Given the description of an element on the screen output the (x, y) to click on. 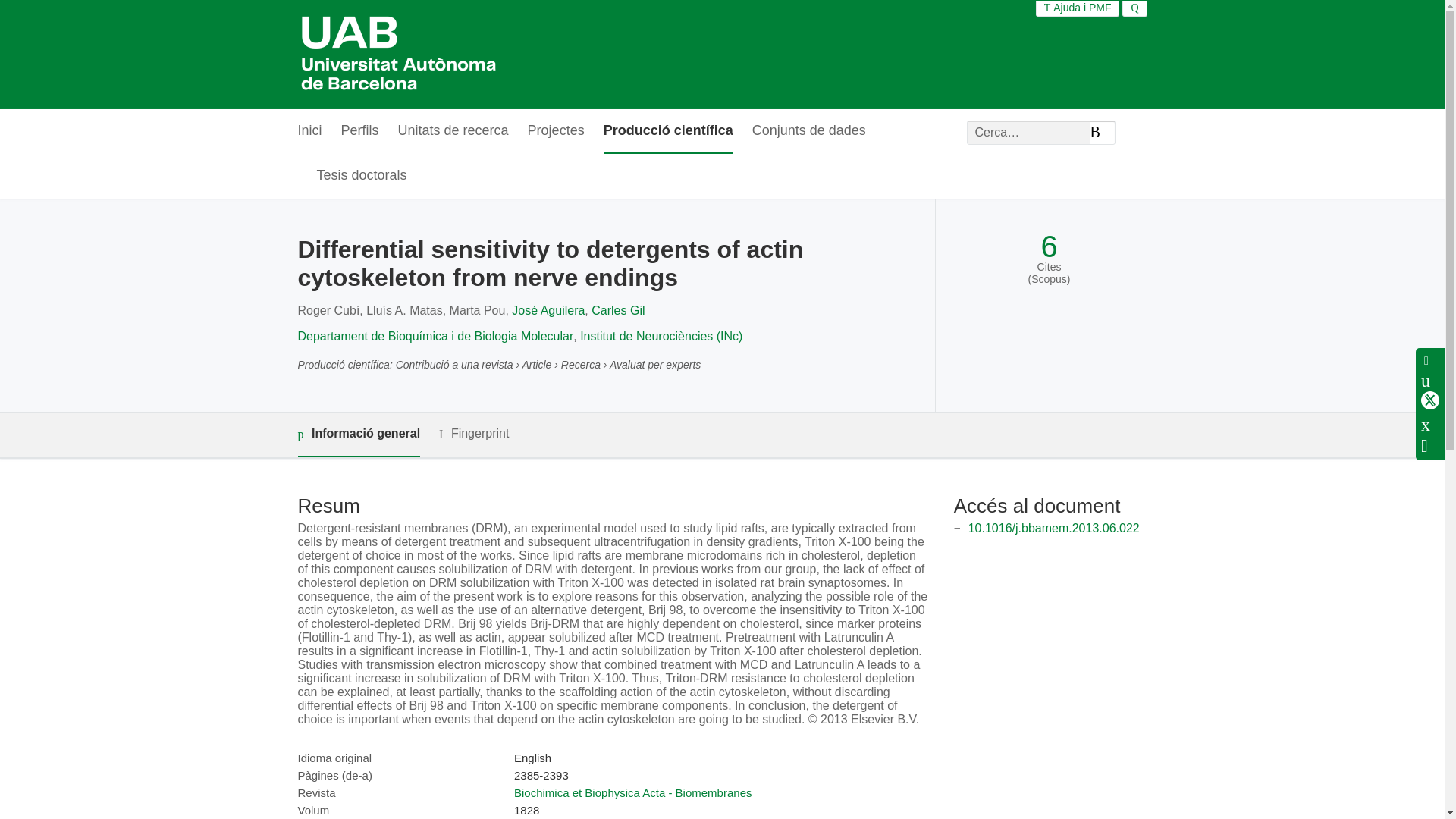
Unitats de recerca (452, 130)
Projectes (556, 130)
Tesis doctorals (362, 176)
Carles Gil (618, 309)
Biochimica et Biophysica Acta - Biomembranes (632, 792)
Conjunts de dades (809, 130)
Fingerprint (473, 433)
Ajuda i PMF (1077, 7)
